Given the description of an element on the screen output the (x, y) to click on. 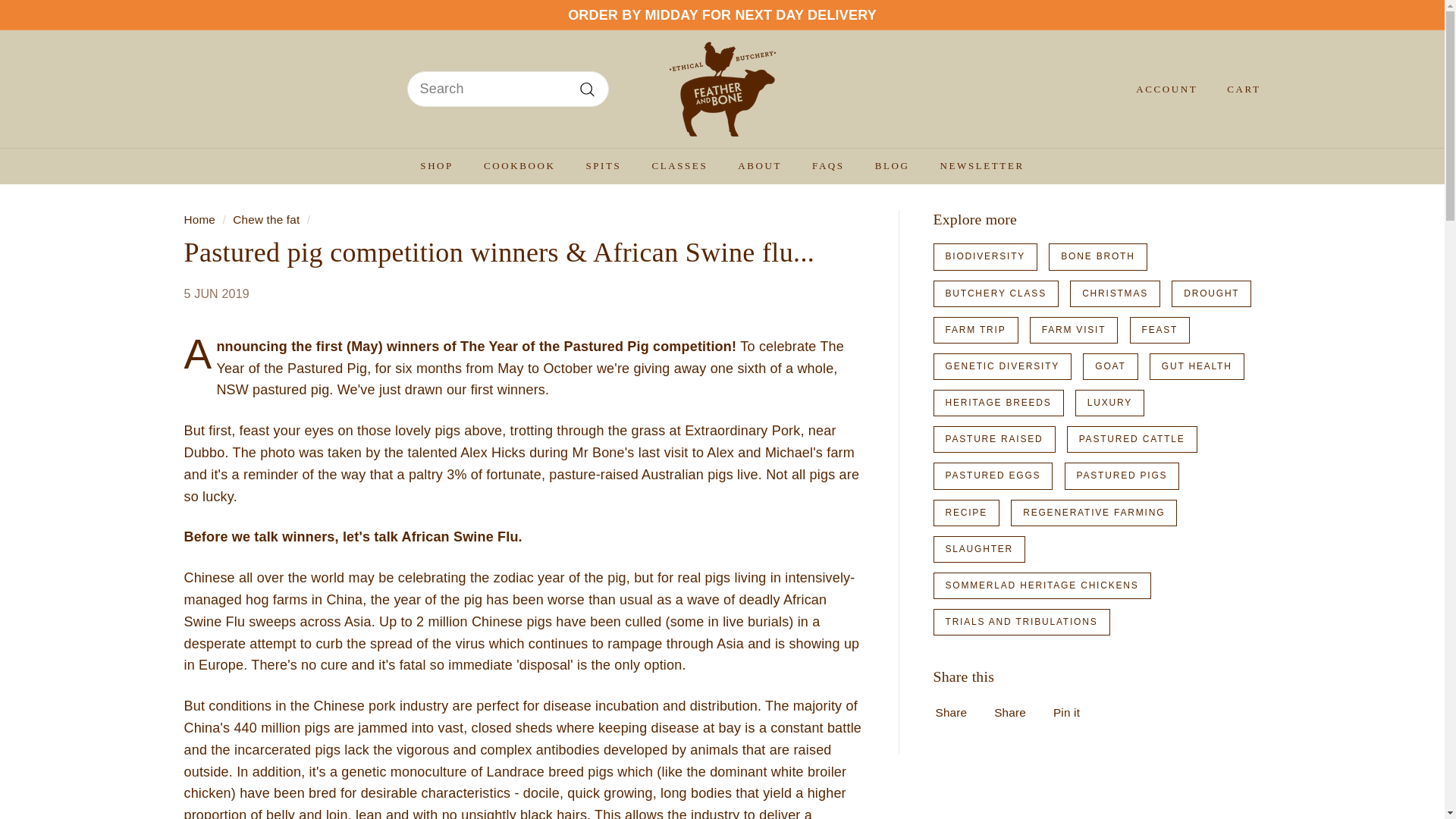
CART (1238, 89)
Pin on Pinterest (1070, 712)
Tweet on Twitter (1013, 712)
Share on Facebook (955, 712)
Back to the frontpage (199, 219)
COOKBOOK (519, 166)
ACCOUNT (1161, 89)
